Given the description of an element on the screen output the (x, y) to click on. 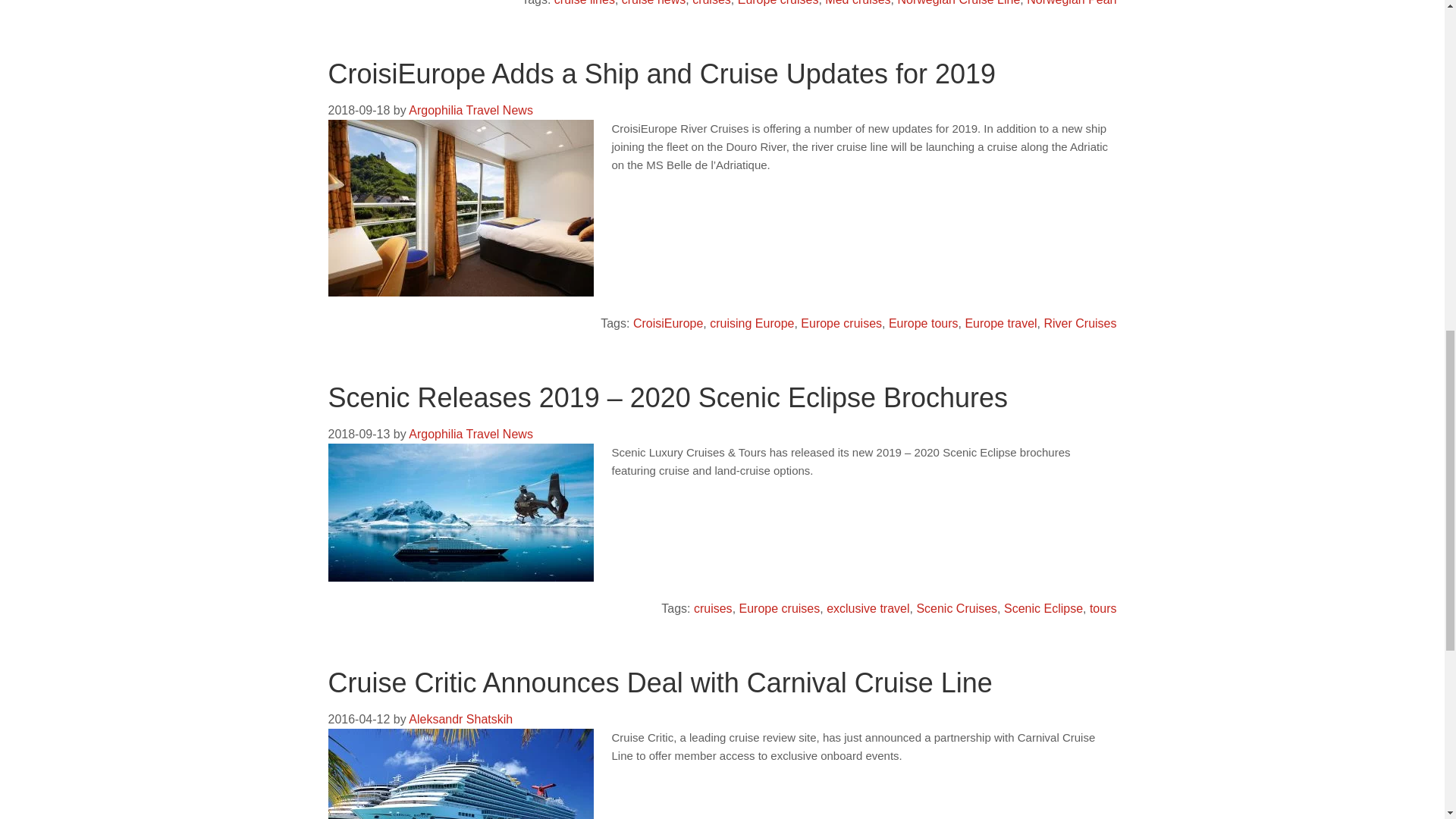
CroisiEurope Adds a Ship and Cruise Updates for 2019 (661, 73)
cruise news (653, 2)
cruising Europe (751, 323)
Norwegian Cruise Line (958, 2)
cruise lines (584, 2)
Europe cruises (778, 2)
Med cruises (857, 2)
Norwegian Pearl (1071, 2)
CroisiEurope (668, 323)
cruises (711, 2)
Argophilia Travel News (470, 110)
